Given the description of an element on the screen output the (x, y) to click on. 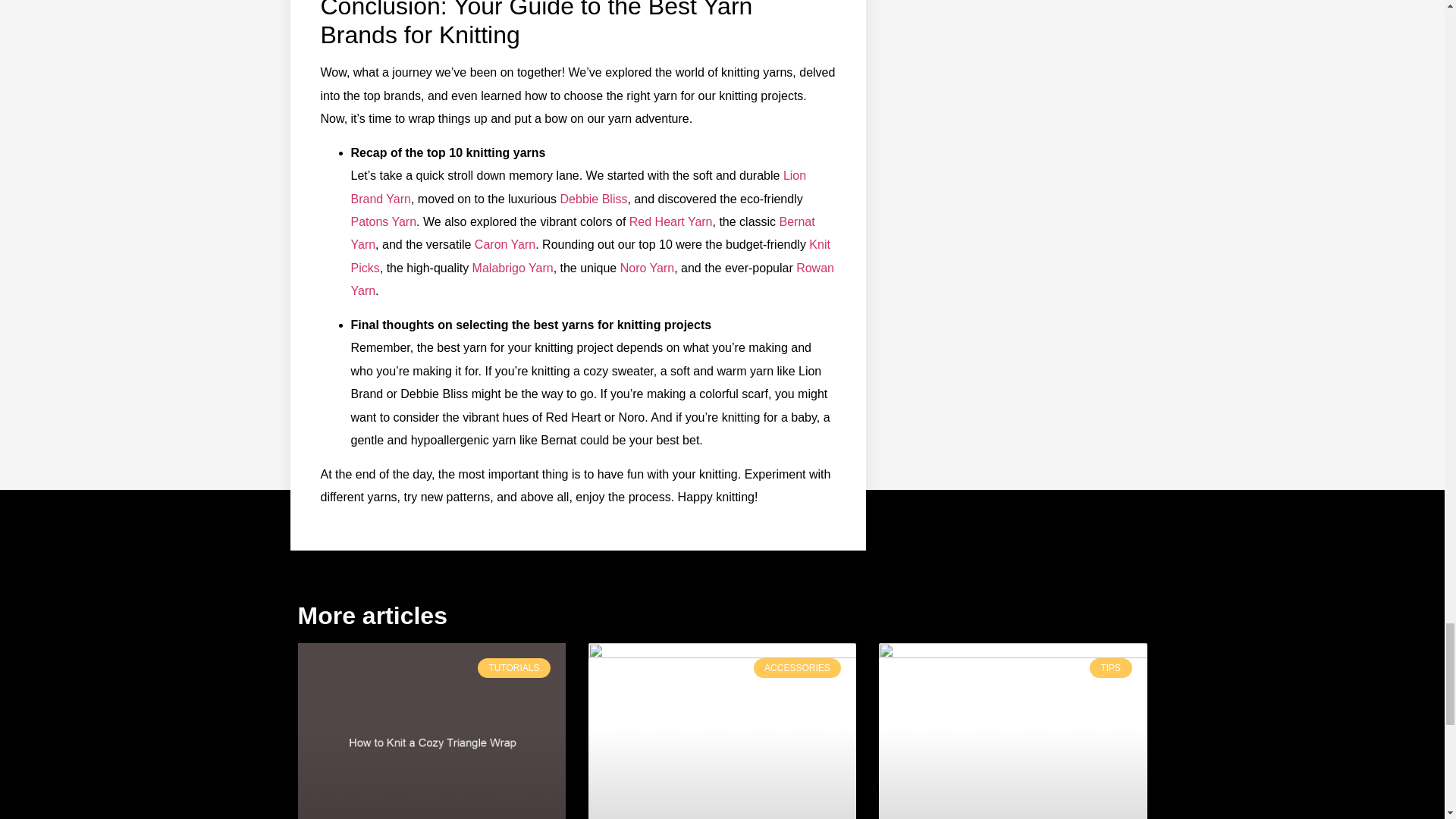
Bernat Yarn (581, 232)
Lion Brand Yarn (578, 186)
Patons Yarn (383, 221)
Noro Yarn (647, 267)
Malabrigo Yarn (512, 267)
Caron Yarn (504, 244)
Debbie Bliss (593, 198)
Red Heart Yarn (670, 221)
Knit Picks (589, 255)
Rowan Yarn (591, 279)
